Given the description of an element on the screen output the (x, y) to click on. 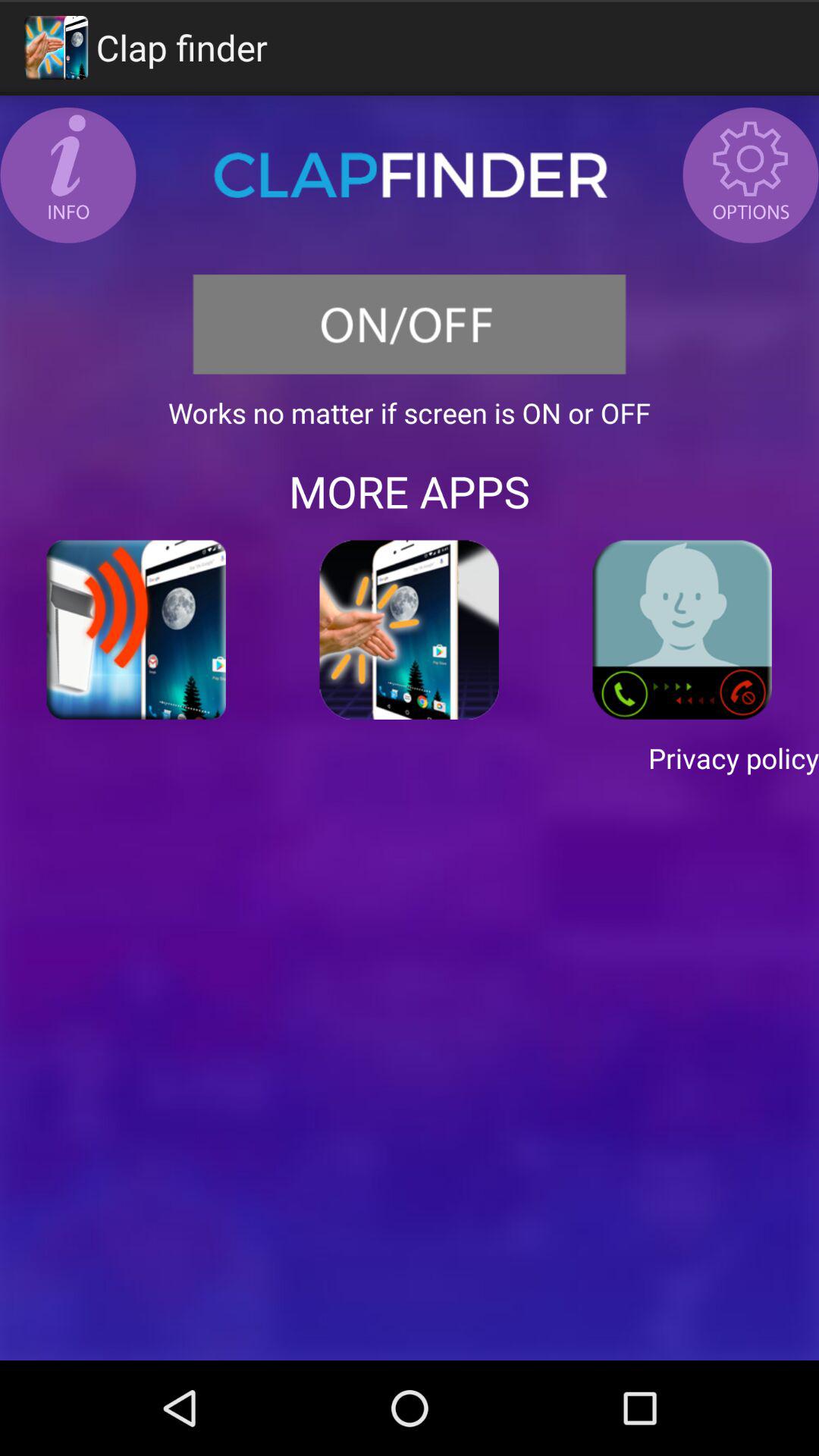
open selected app (409, 629)
